Given the description of an element on the screen output the (x, y) to click on. 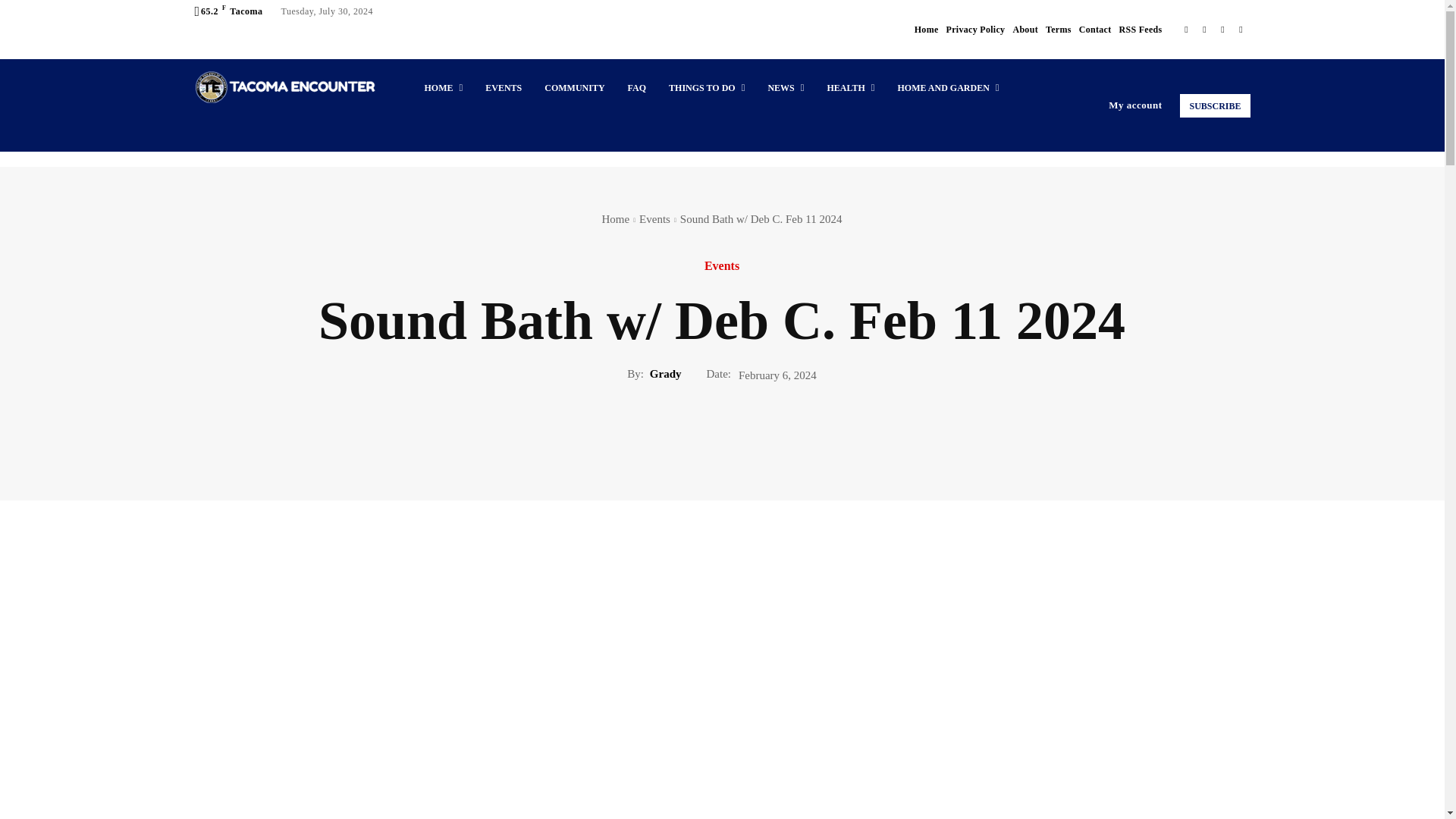
Youtube (1240, 29)
Privacy Policy (976, 29)
Subscribe (1214, 105)
Facebook (1185, 29)
Terms (1058, 29)
Contact (1095, 29)
RSS Feeds (1139, 29)
Twitter (1221, 29)
Instagram (1203, 29)
Home (926, 29)
Tacoma Encounter Logo (284, 86)
About (1024, 29)
